Given the description of an element on the screen output the (x, y) to click on. 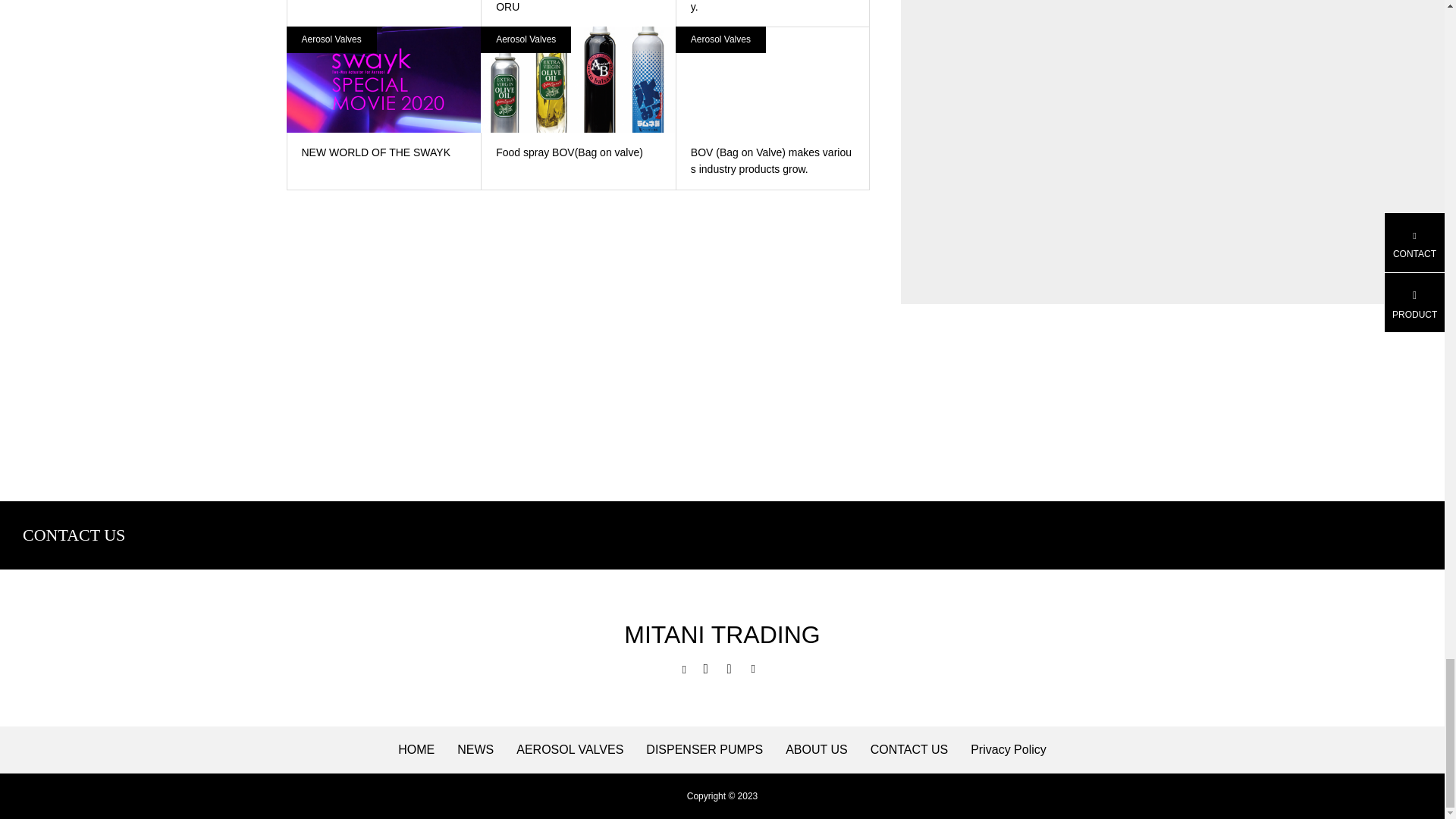
MITANI TRADING (722, 634)
Aerosol Valves (331, 39)
SWAYK HOW TO USE (383, 4)
NEW WORLD OF THE SWAYK (383, 98)
Youtube (732, 669)
Make aerosol products more freely. (772, 13)
